Given the description of an element on the screen output the (x, y) to click on. 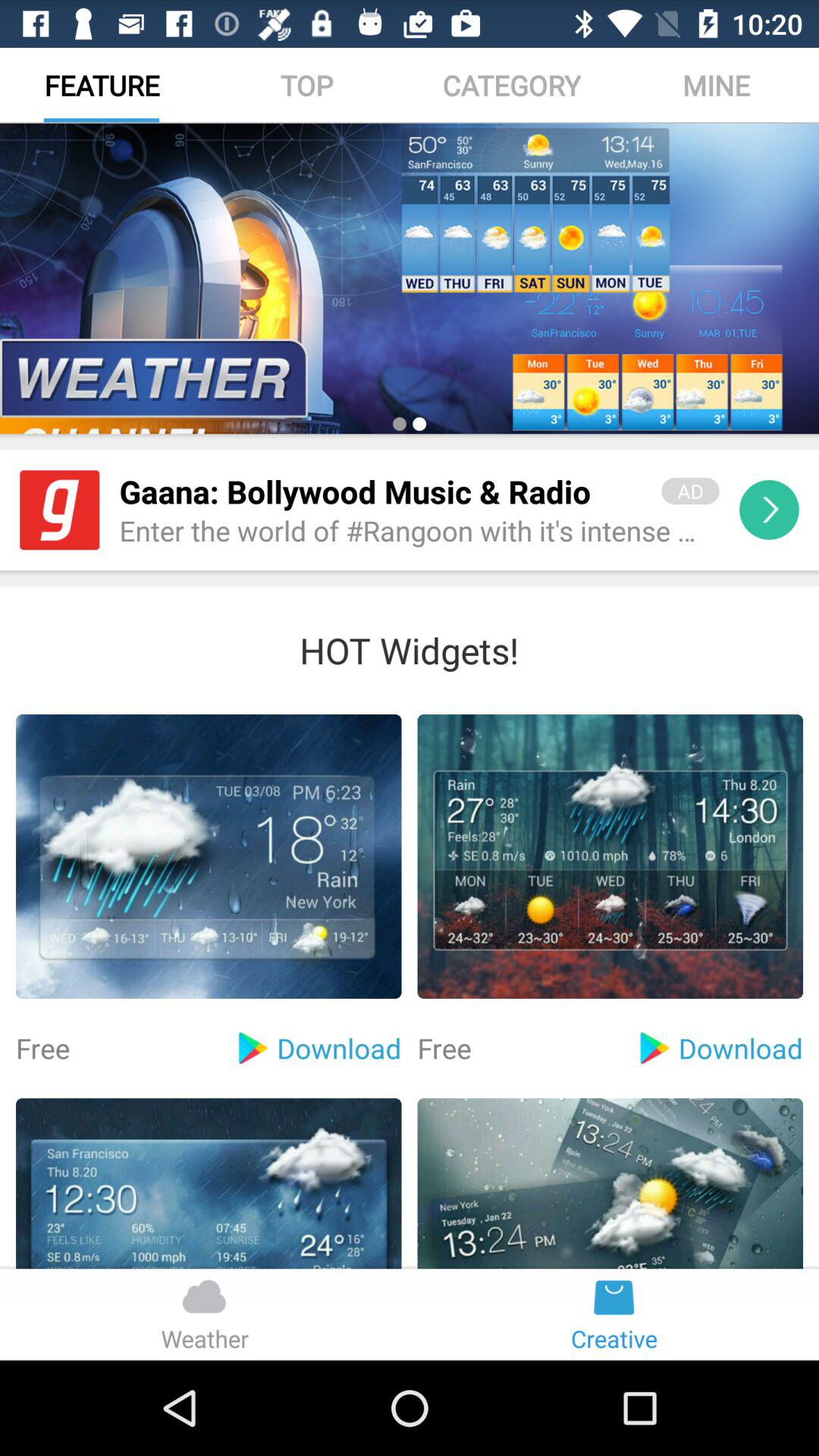
tap the icon below feature icon (409, 278)
